Given the description of an element on the screen output the (x, y) to click on. 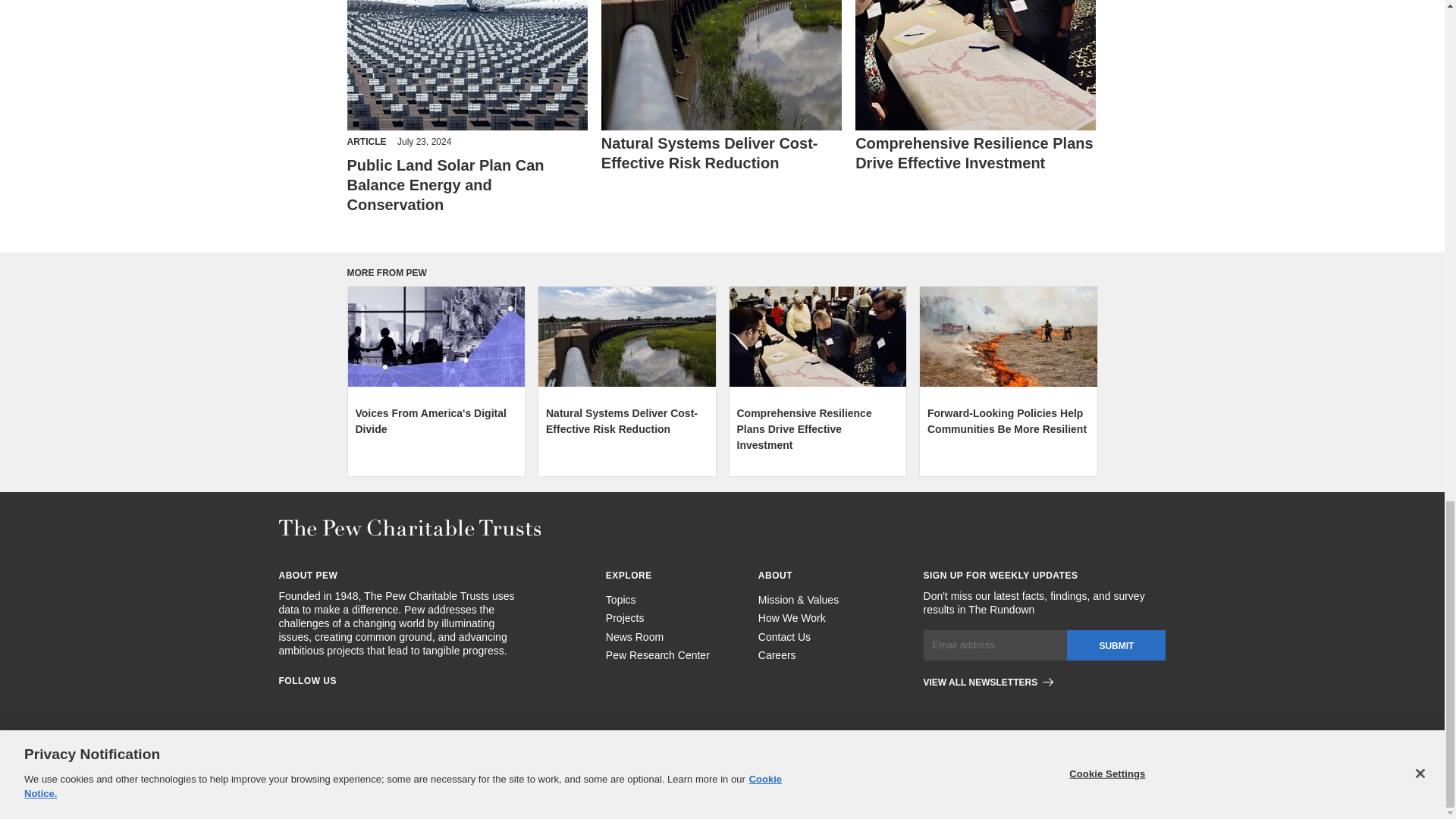
Solar panels in a desert in front of a mountain (467, 65)
Facebook (285, 704)
